Given the description of an element on the screen output the (x, y) to click on. 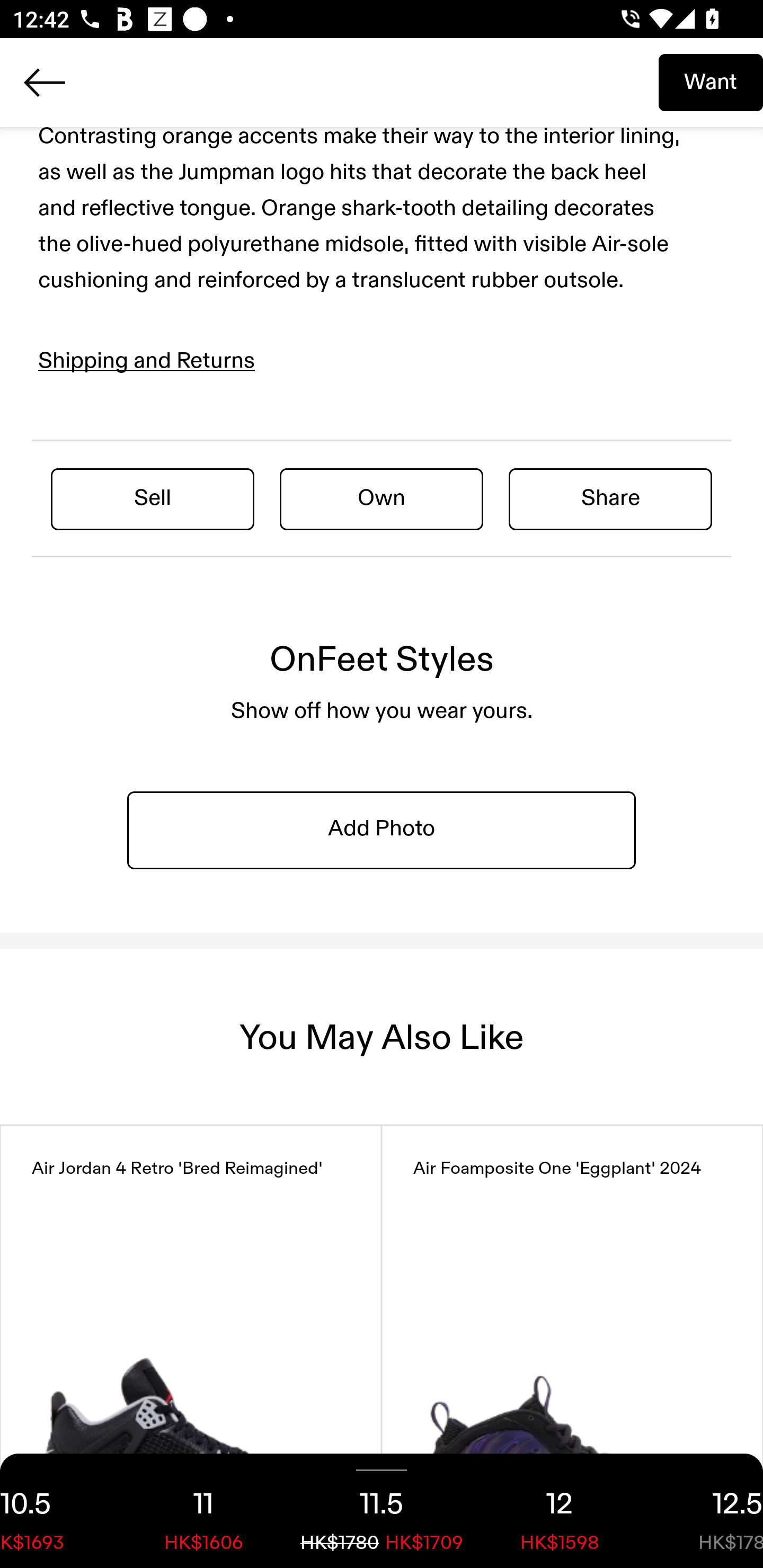
Want (710, 82)
Shipping and Returns (146, 361)
Sell (152, 498)
Own (381, 498)
Share (609, 498)
Add Photo (381, 829)
Air Jordan 4 Retro 'Bred Reimagined' (190, 1346)
Air Foamposite One 'Eggplant' 2024 (572, 1346)
10.5 HK$1693 (57, 1510)
11 HK$1606 (203, 1510)
11.5 HK$1780 HK$1709 (381, 1510)
12 HK$1598 (559, 1510)
12.5 HK$1780 (705, 1510)
